Given the description of an element on the screen output the (x, y) to click on. 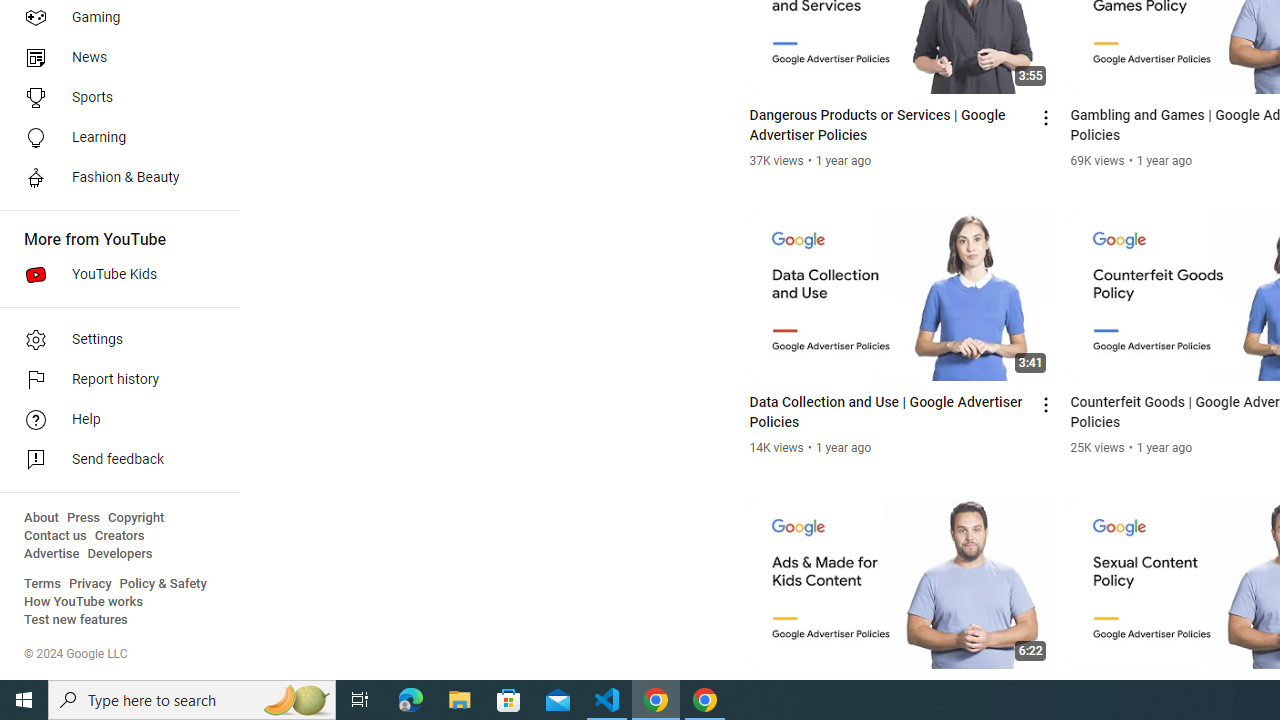
Developers (120, 554)
News (113, 57)
Action menu (1046, 691)
Creators (118, 536)
Terms (42, 584)
How YouTube works (83, 602)
Policy & Safety (163, 584)
Copyright (136, 518)
Report history (113, 380)
Press (83, 518)
Privacy (89, 584)
Advertise (51, 554)
Help (113, 419)
Test new features (76, 620)
